Given the description of an element on the screen output the (x, y) to click on. 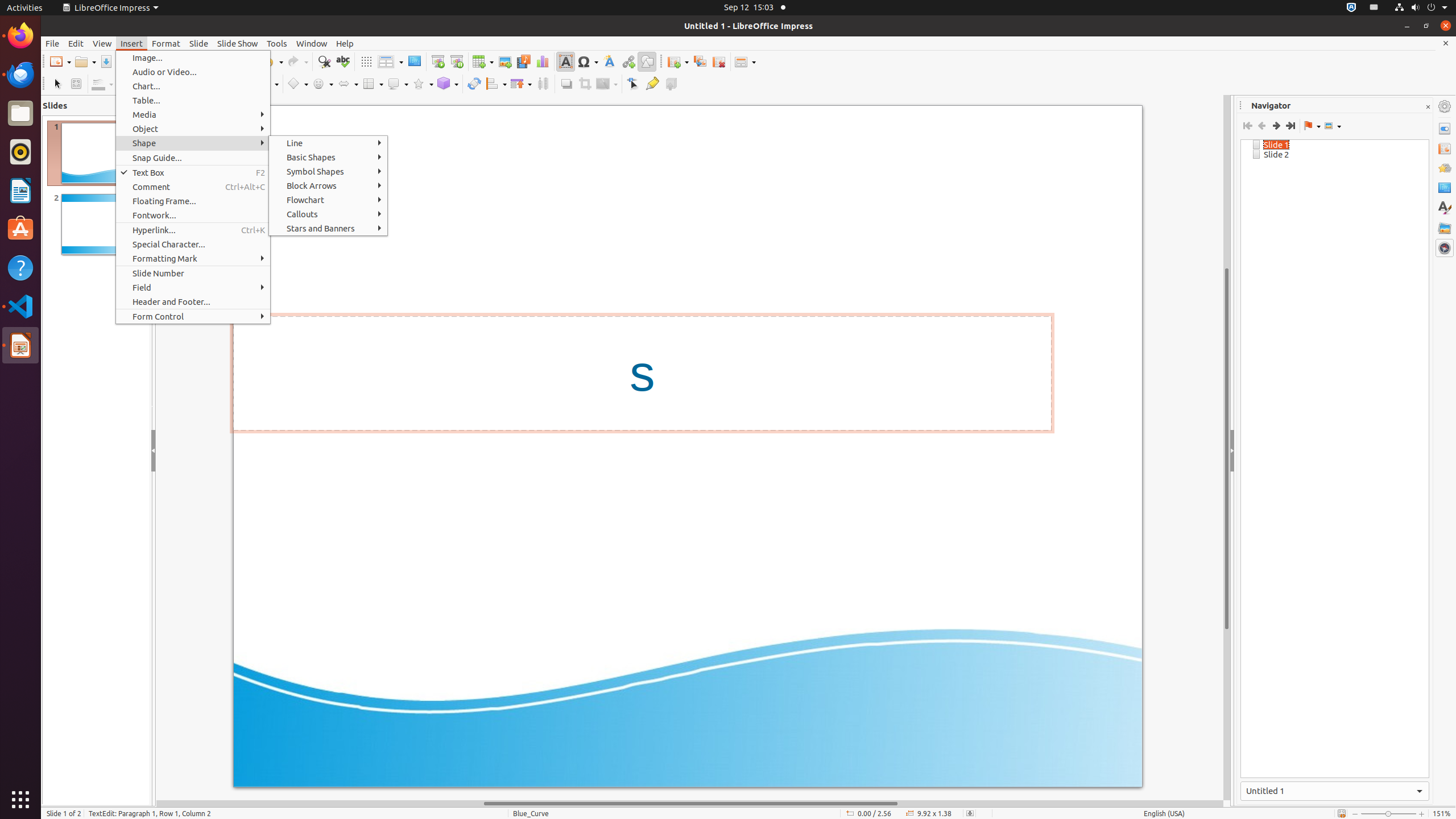
Stars and Banners Element type: menu (328, 228)
Snap Guide... Element type: menu-item (193, 157)
Header and Footer... Element type: menu-item (193, 301)
Slide Transition Element type: radio-button (1444, 148)
